Given the description of an element on the screen output the (x, y) to click on. 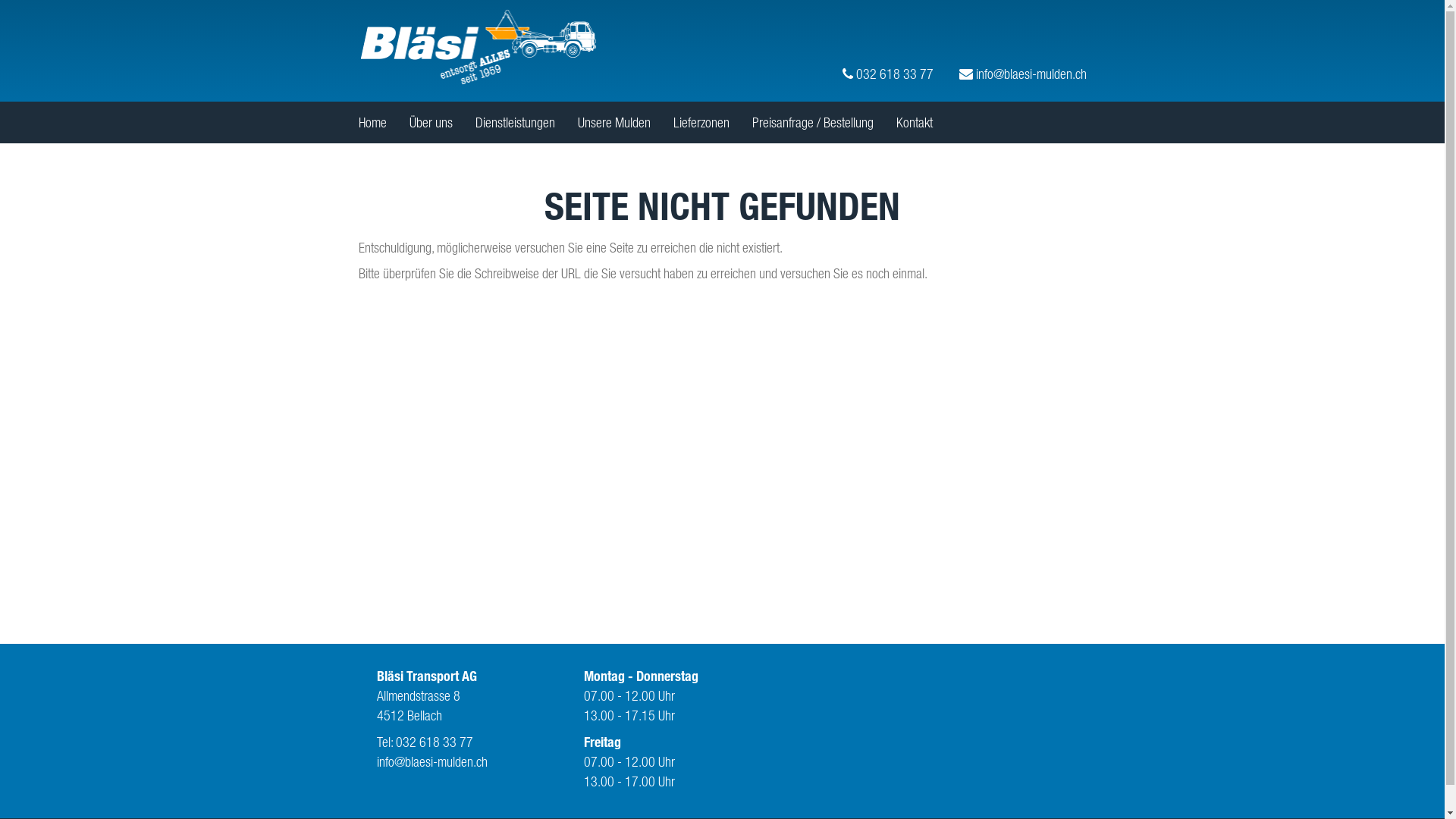
Preisanfrage / Bestellung Element type: text (812, 122)
Unsere Mulden Element type: text (613, 122)
Dienstleistungen Element type: text (514, 122)
Lieferzonen Element type: text (701, 122)
Kontakt Element type: text (914, 122)
info@blaesi-mulden.ch Element type: text (1010, 45)
032 618 33 77 Element type: text (875, 45)
info@blaesi-mulden.ch Element type: text (431, 761)
Home Element type: text (371, 122)
Name Ihrer Website Element type: hover (476, 46)
